Given the description of an element on the screen output the (x, y) to click on. 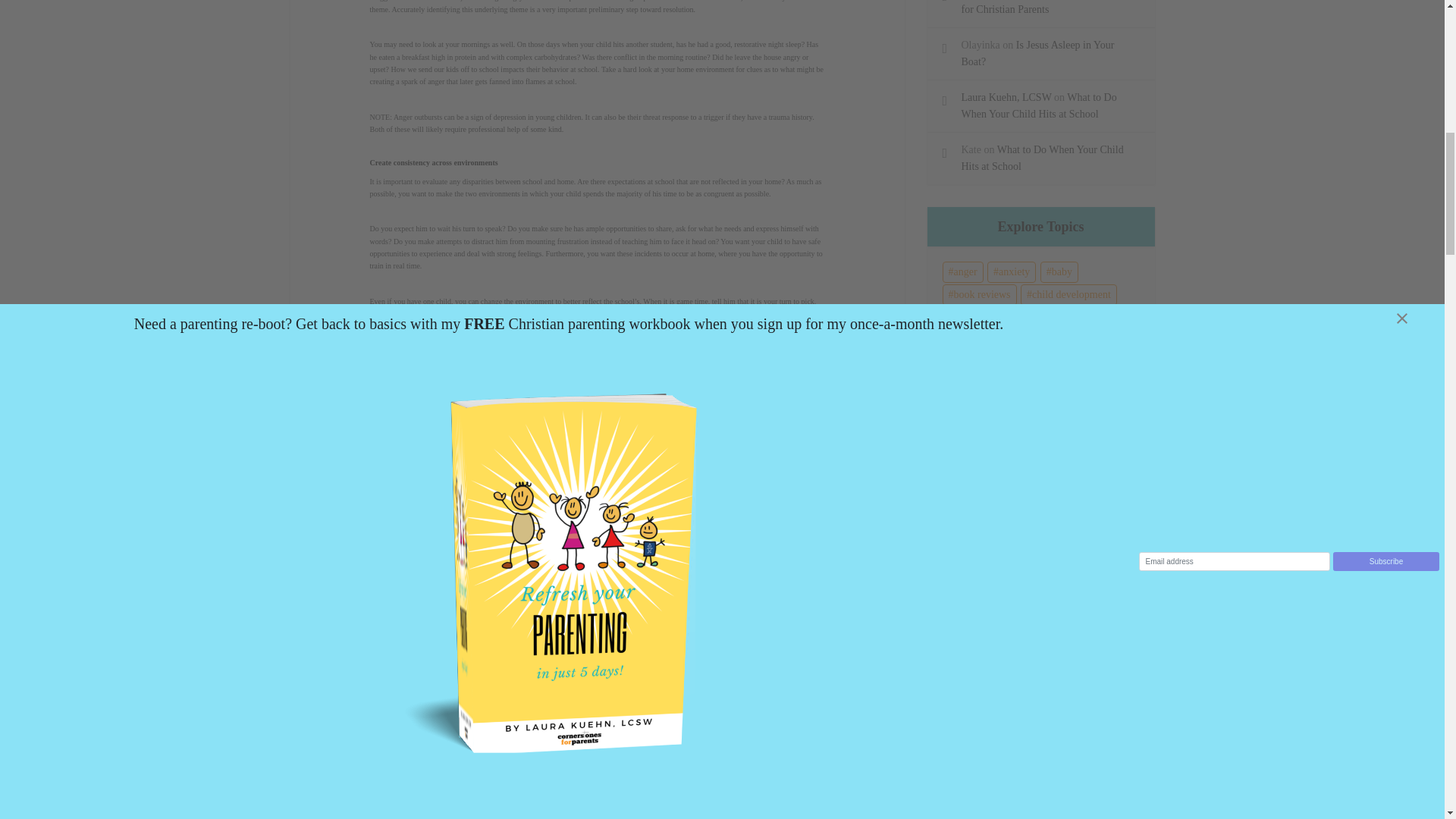
thinking errors (592, 499)
recognize the early signs (490, 449)
self-regulation strategies (456, 474)
